Given the description of an element on the screen output the (x, y) to click on. 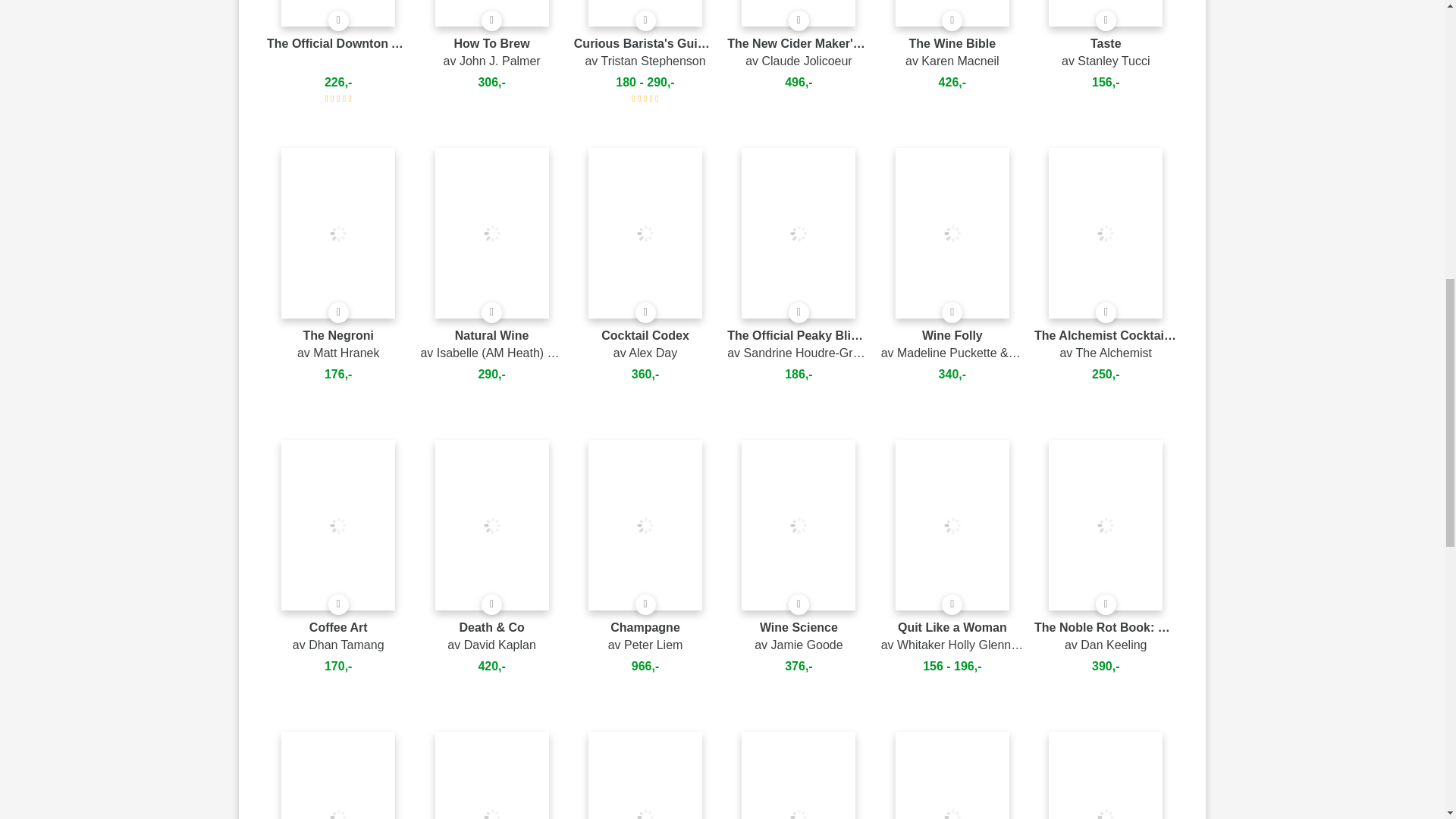
Findes som fysisk bog (799, 20)
Findes som fysisk bog (1106, 20)
Findes som fysisk bog (339, 312)
Findes som fysisk bog (491, 20)
Findes som fysisk bog (645, 20)
Findes som fysisk bog (339, 20)
Findes som fysisk bog (952, 20)
